Given the description of an element on the screen output the (x, y) to click on. 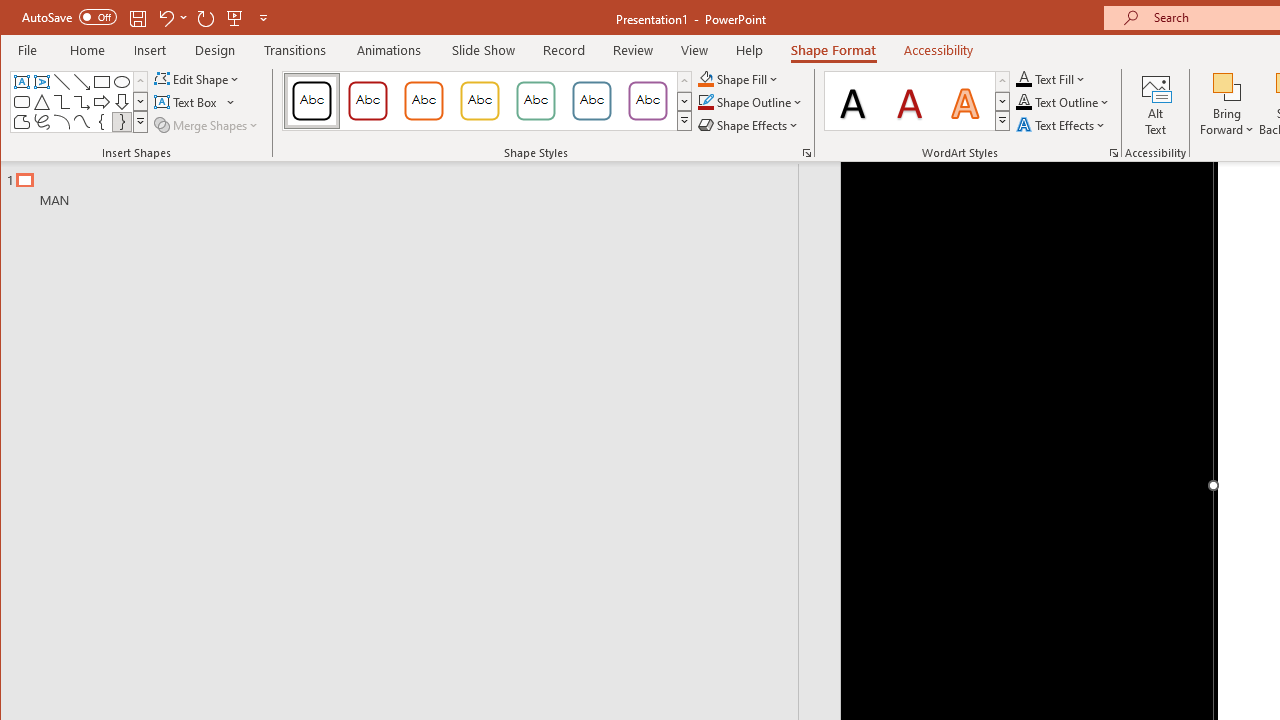
Fill: Black, Text color 1; Shadow (853, 100)
Colored Outline - Blue-Gray, Accent 5 (591, 100)
Colored Outline - Orange, Accent 2 (423, 100)
Bring Forward (1227, 86)
Text Effects (1062, 124)
AutomationID: TextStylesGallery (917, 101)
Text Outline RGB(0, 0, 0) (1023, 101)
